Given the description of an element on the screen output the (x, y) to click on. 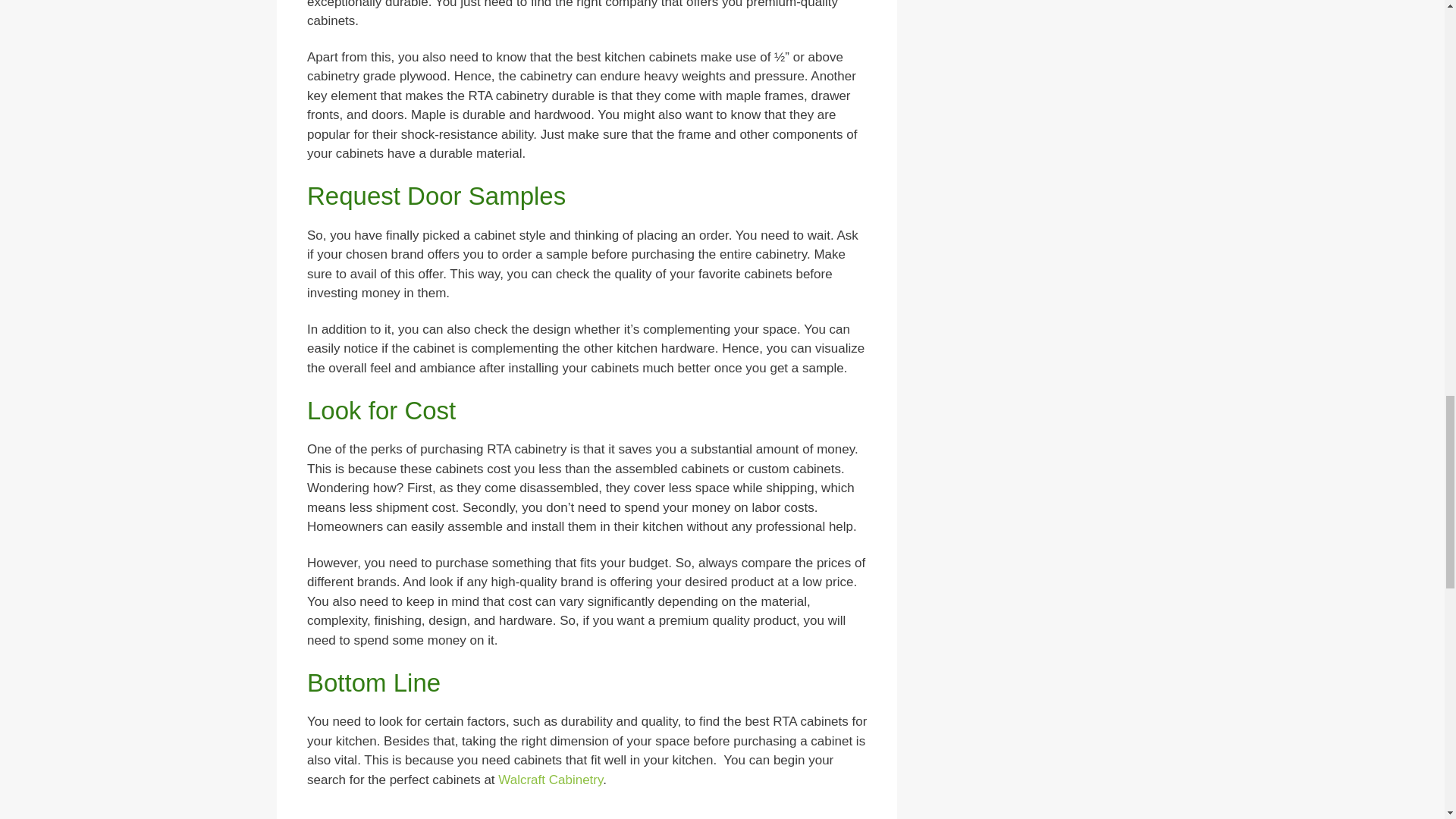
Walcraft Cabinetry (549, 780)
